Given the description of an element on the screen output the (x, y) to click on. 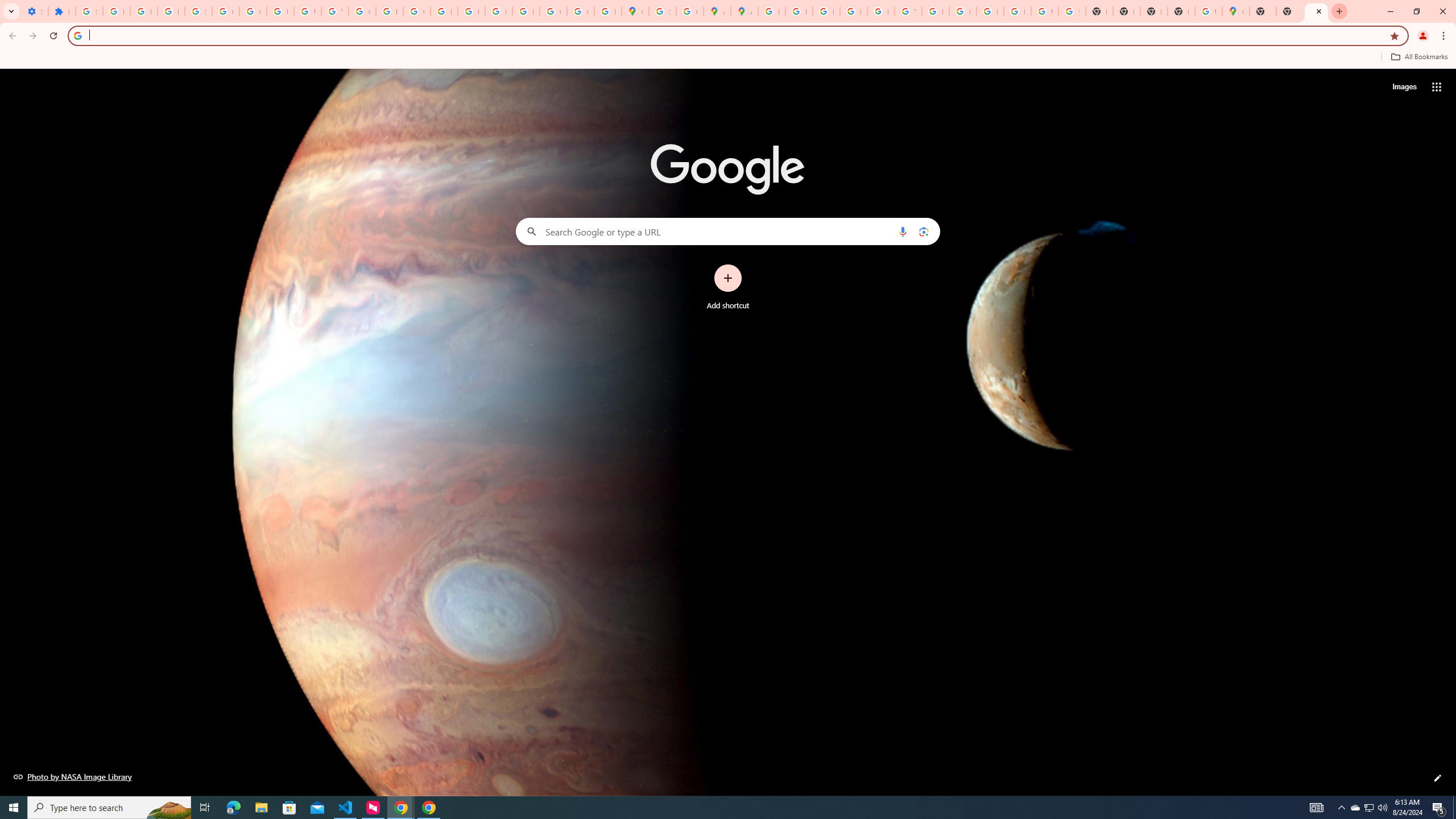
New Tab (1316, 11)
New Tab (1262, 11)
Policy Accountability and Transparency - Transparency Center (771, 11)
Sign in - Google Accounts (662, 11)
New Tab (1289, 11)
